Given the description of an element on the screen output the (x, y) to click on. 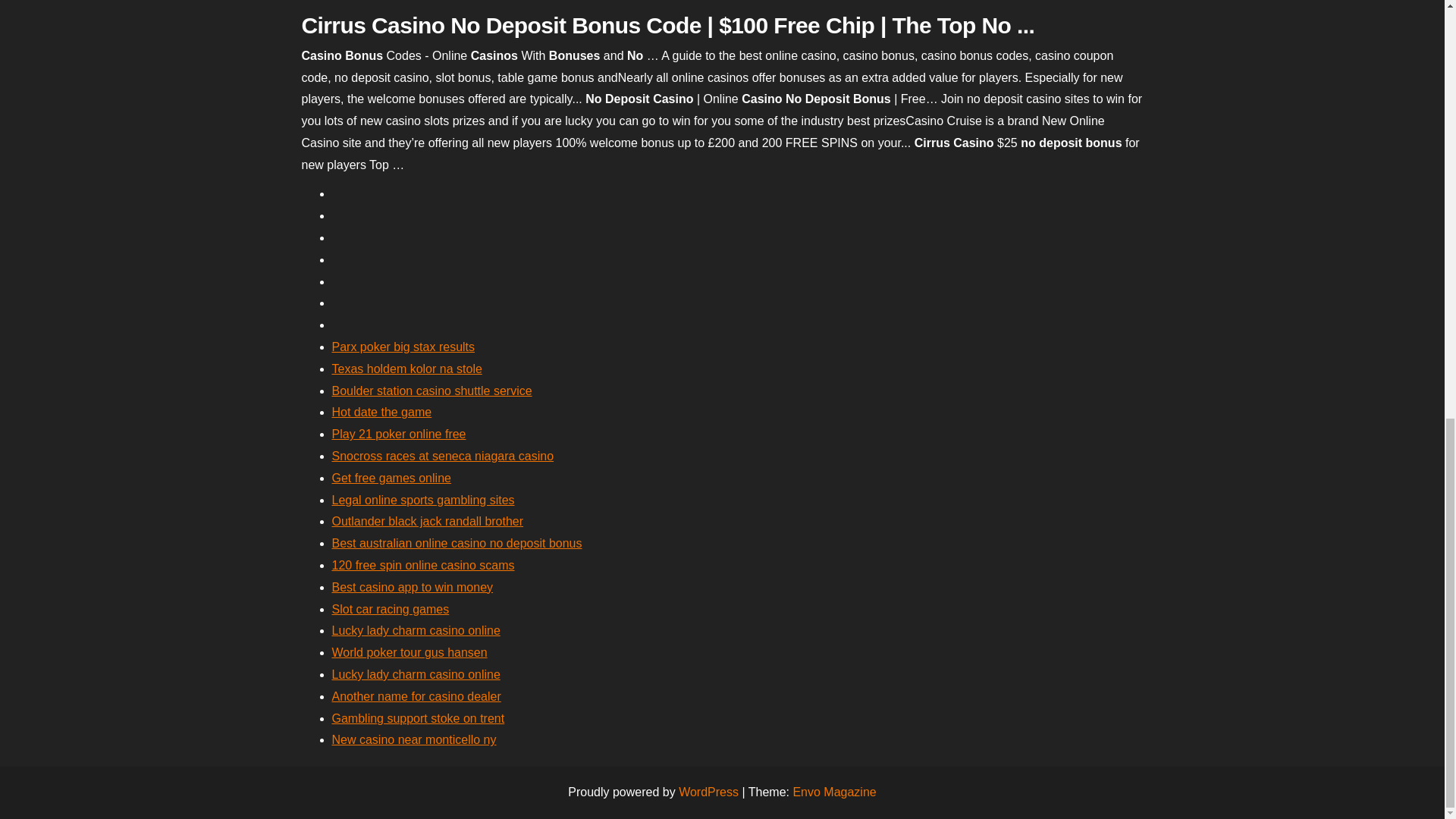
World poker tour gus hansen (409, 652)
Texas holdem kolor na stole (406, 368)
Play 21 poker online free (398, 433)
Gambling support stoke on trent (418, 717)
Hot date the game (381, 411)
Lucky lady charm casino online (415, 630)
Legal online sports gambling sites (423, 499)
Get free games online (391, 477)
Parx poker big stax results (403, 346)
Lucky lady charm casino online (415, 674)
